Given the description of an element on the screen output the (x, y) to click on. 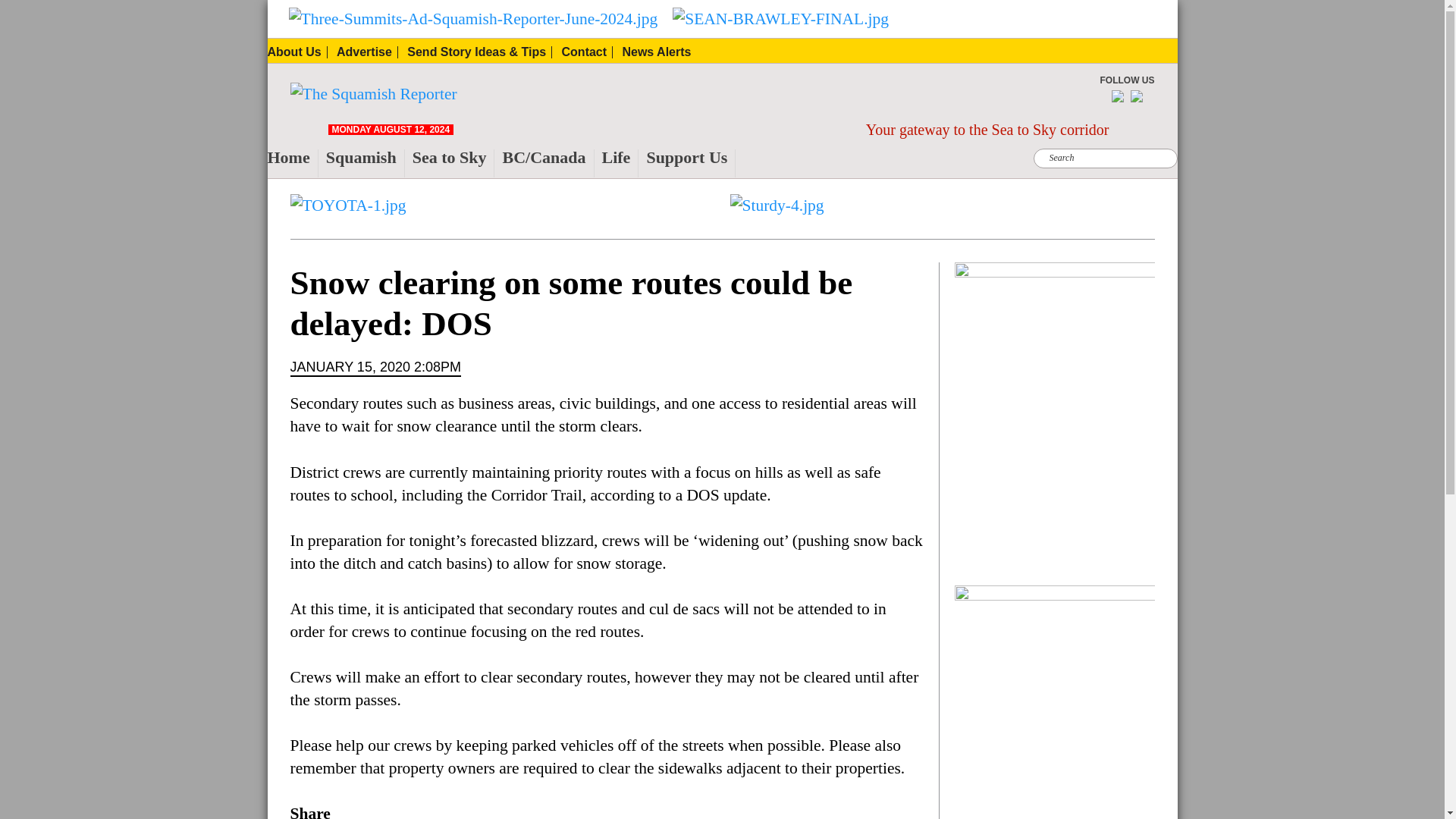
Search (455, 9)
Squamish (365, 163)
Advertise (366, 51)
News Alerts (655, 51)
Contact (587, 51)
Sea to Sky (453, 163)
The Squamish Reporter (321, 116)
About Us (296, 51)
Support Us (690, 163)
Life (620, 163)
